Given the description of an element on the screen output the (x, y) to click on. 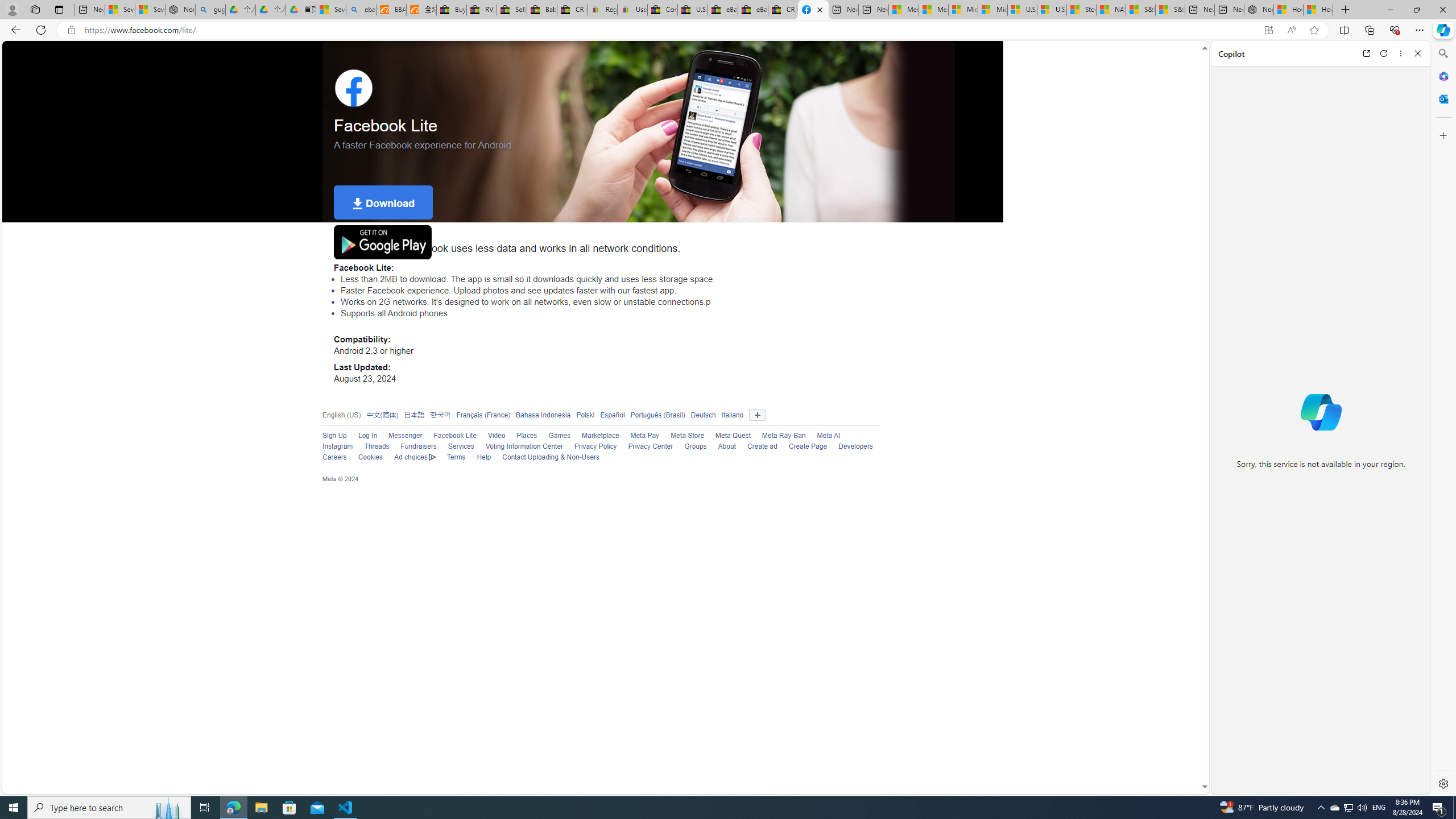
Register: Create a personal eBay account (601, 9)
Bahasa Indonesia (542, 414)
Privacy Center (649, 446)
Side bar (1443, 418)
Polski (585, 414)
English (US) (341, 415)
Marketplace (594, 436)
Messenger (405, 435)
Browser essentials (1394, 29)
Places (526, 435)
guge yunpan - Search (210, 9)
Meta Ray-Ban (783, 435)
More options (1401, 53)
